Given the description of an element on the screen output the (x, y) to click on. 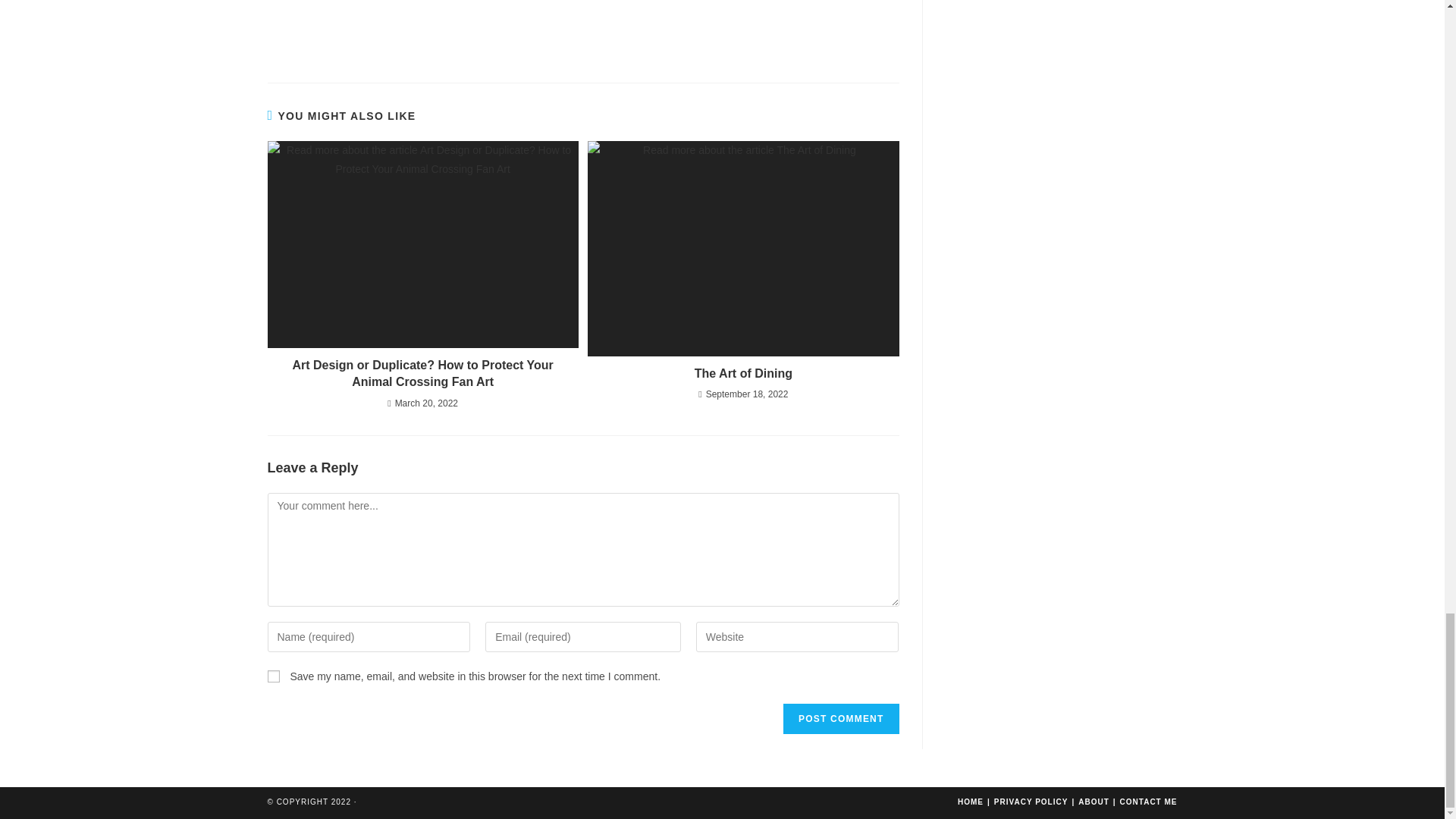
The Art of Dining (742, 373)
PRIVACY POLICY (1031, 801)
Post Comment (840, 718)
ABOUT (1093, 801)
yes (272, 676)
HOME (971, 801)
CONTACT ME (1148, 801)
The Art of Dining 2 (743, 248)
